Given the description of an element on the screen output the (x, y) to click on. 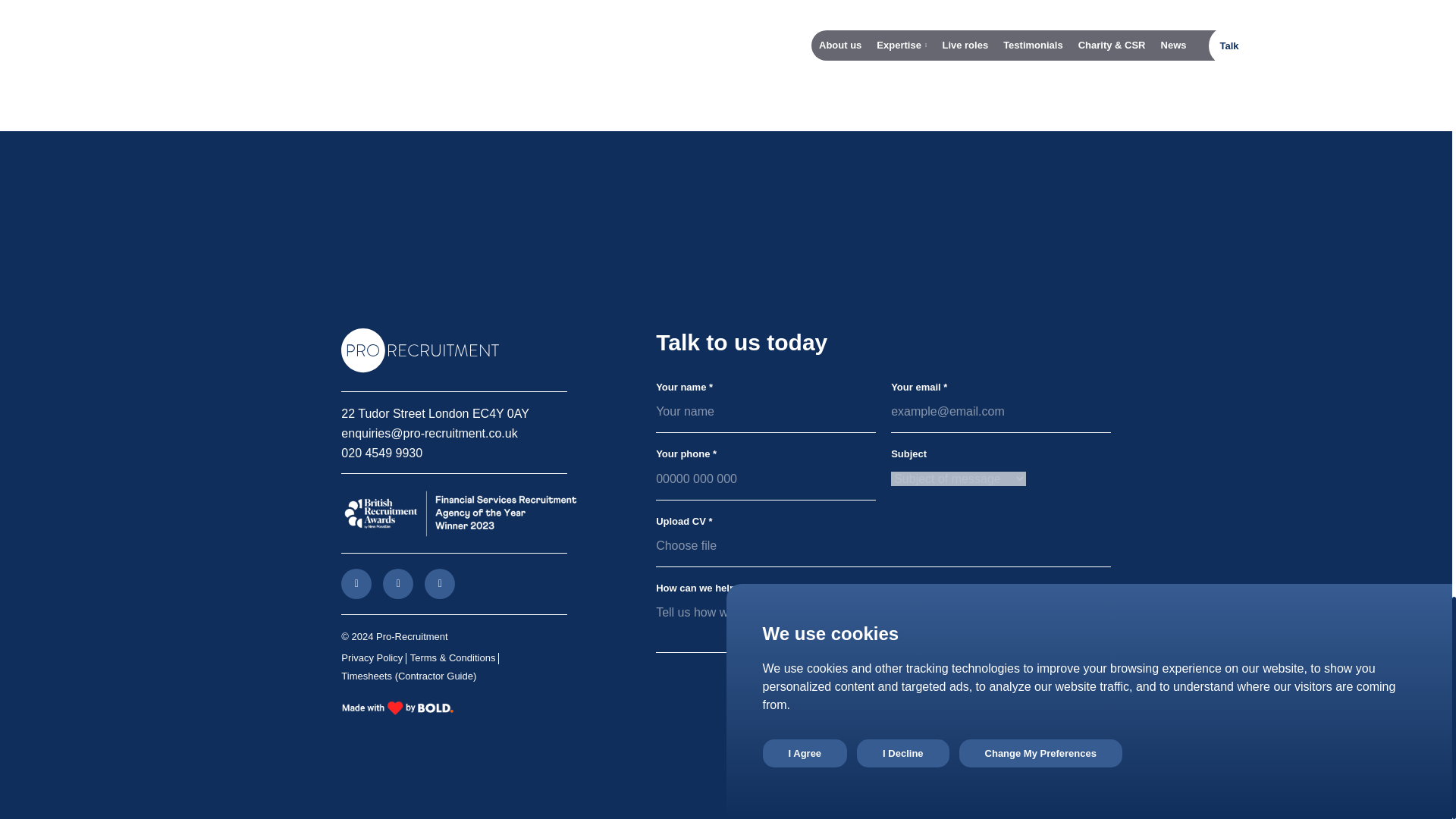
22 Tudor Street London EC4Y 0AY (434, 413)
